Given the description of an element on the screen output the (x, y) to click on. 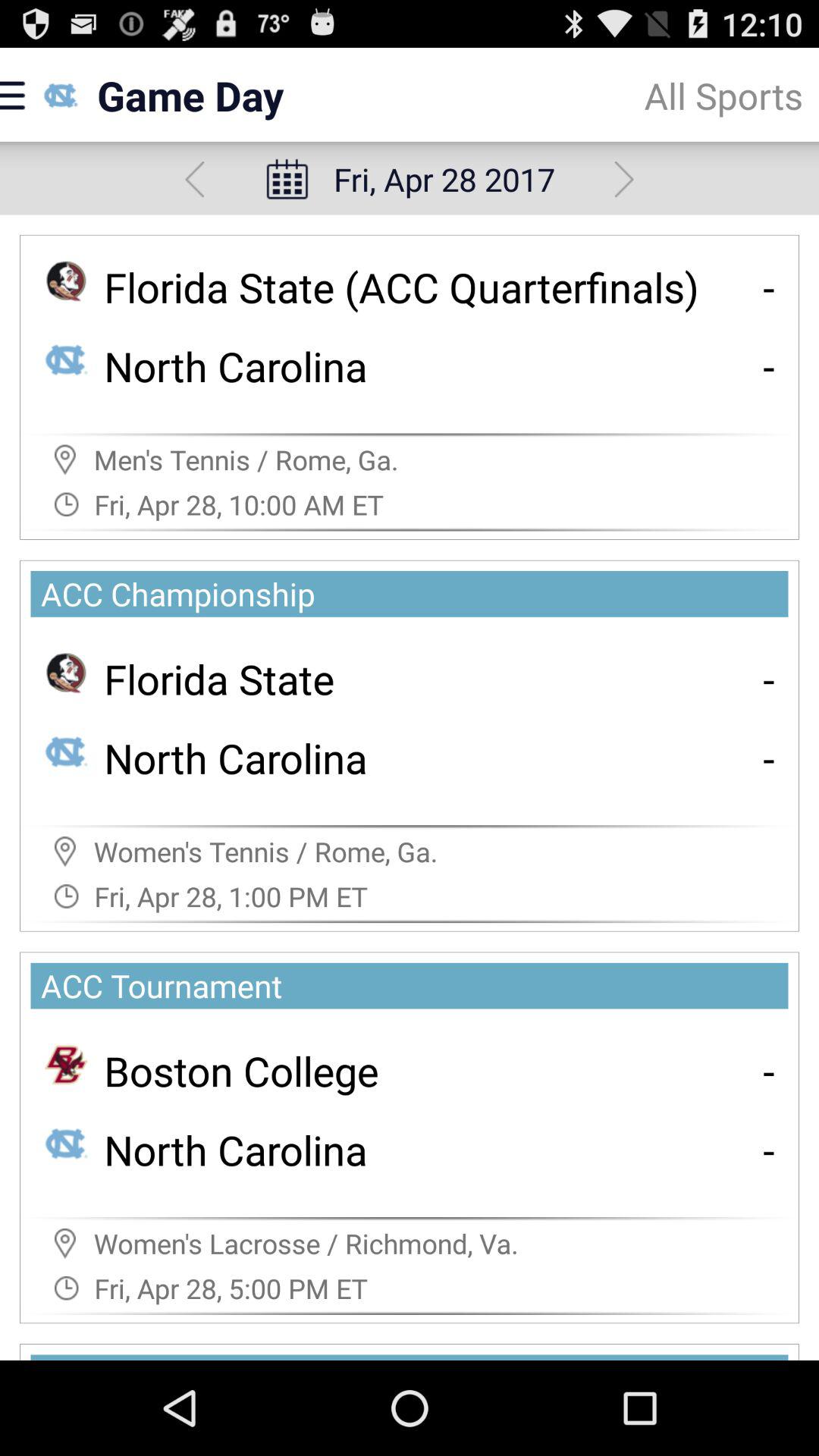
turn on item next to the florida state app (768, 678)
